Given the description of an element on the screen output the (x, y) to click on. 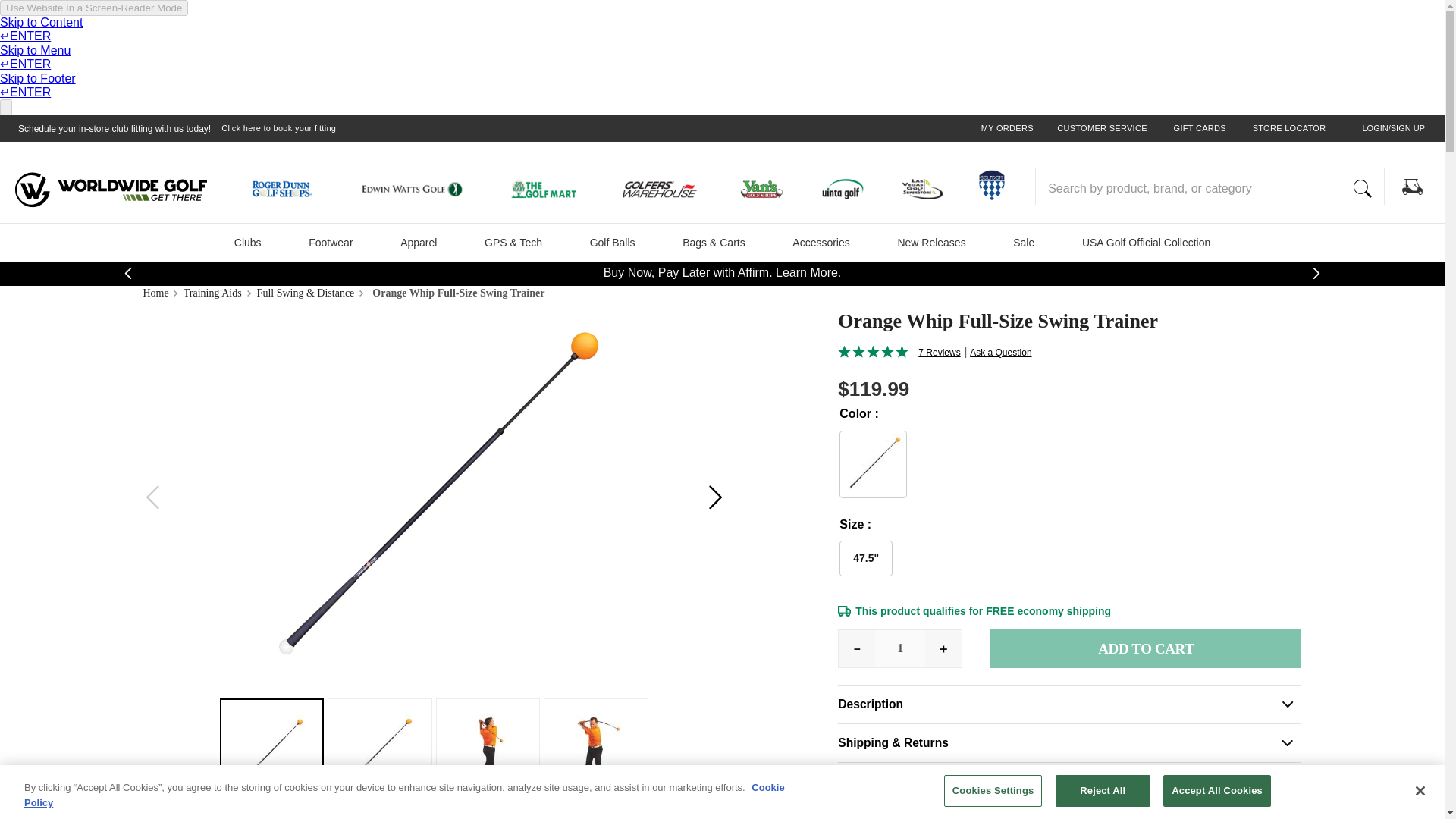
Clubs (248, 242)
Sale (1024, 242)
Uninta Golf (847, 191)
Edwin Watts (423, 191)
Golfers Warehouse (668, 191)
Las Vegas Golf (927, 191)
1 (899, 647)
Buy Now, Pay Later with Affirm. Learn More. (722, 273)
Training Aids (214, 293)
Roger Dunn (289, 191)
USA Golf Official Collection (1146, 242)
MY ORDERS (1007, 128)
GIFT CARDS (1199, 128)
Clubs (248, 242)
CUSTOMER SERVICE (1102, 128)
